Given the description of an element on the screen output the (x, y) to click on. 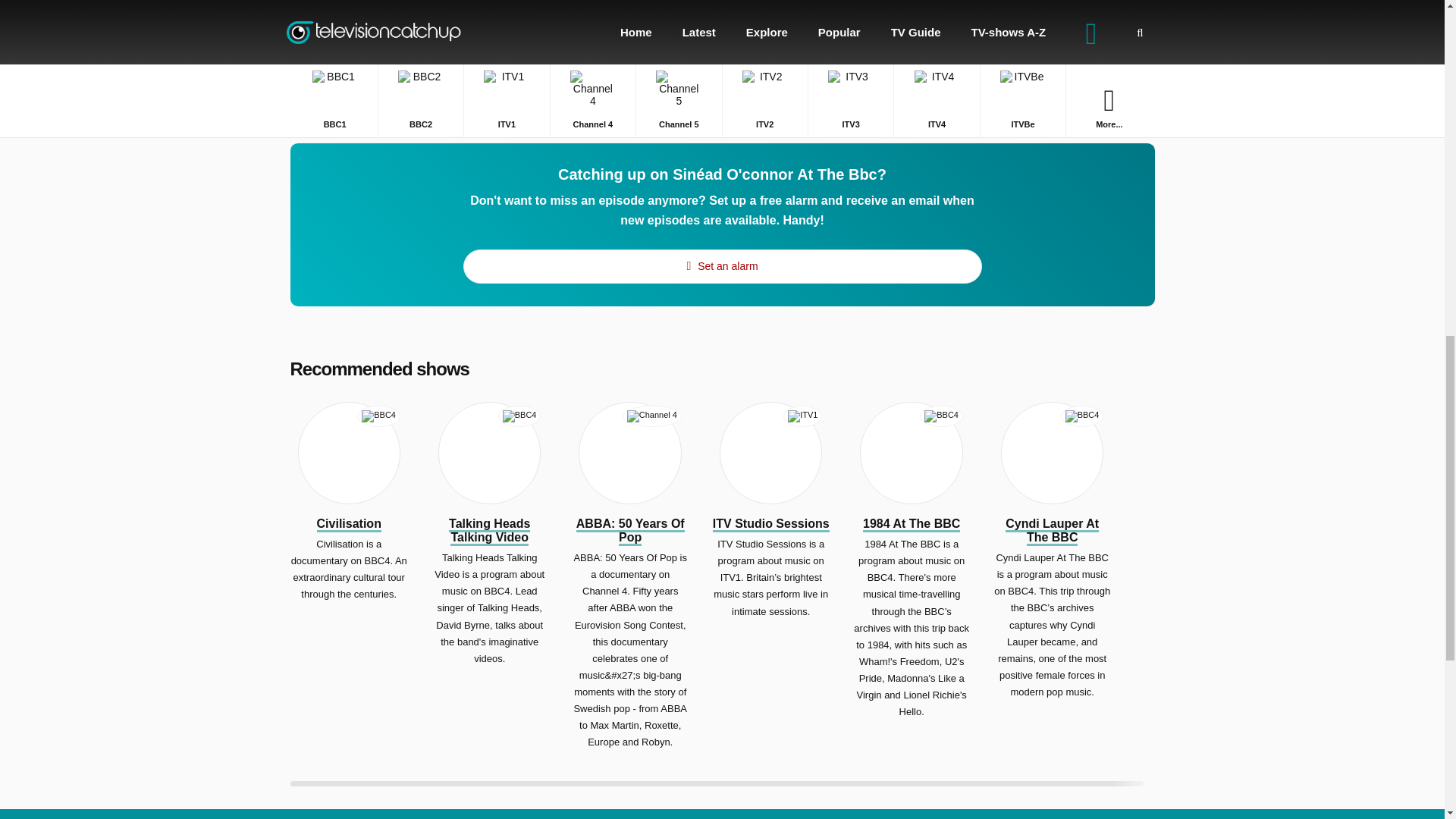
Set an alarm (722, 266)
